Given the description of an element on the screen output the (x, y) to click on. 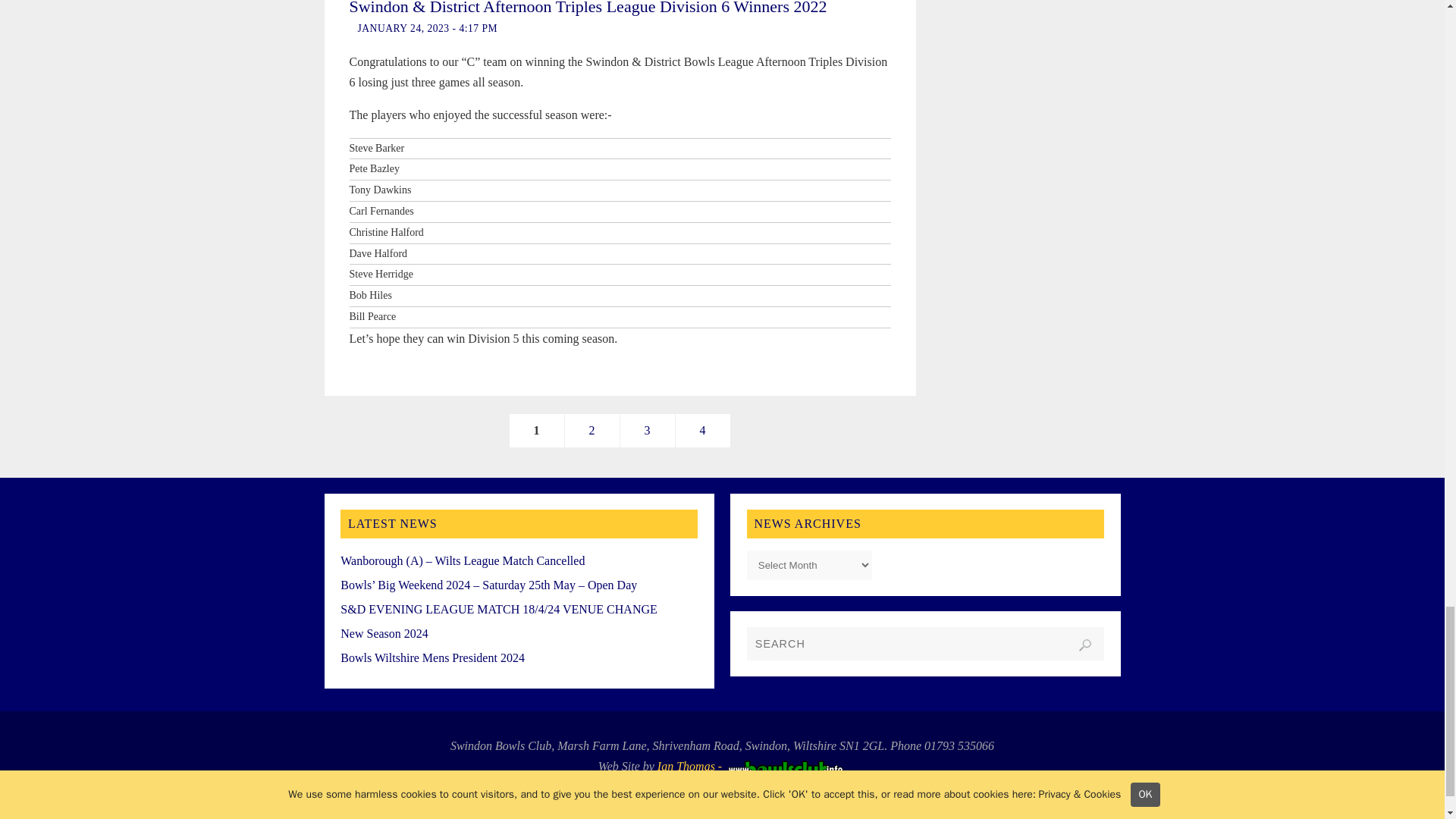
Parabola Theme by Cryout Creations (718, 801)
